Given the description of an element on the screen output the (x, y) to click on. 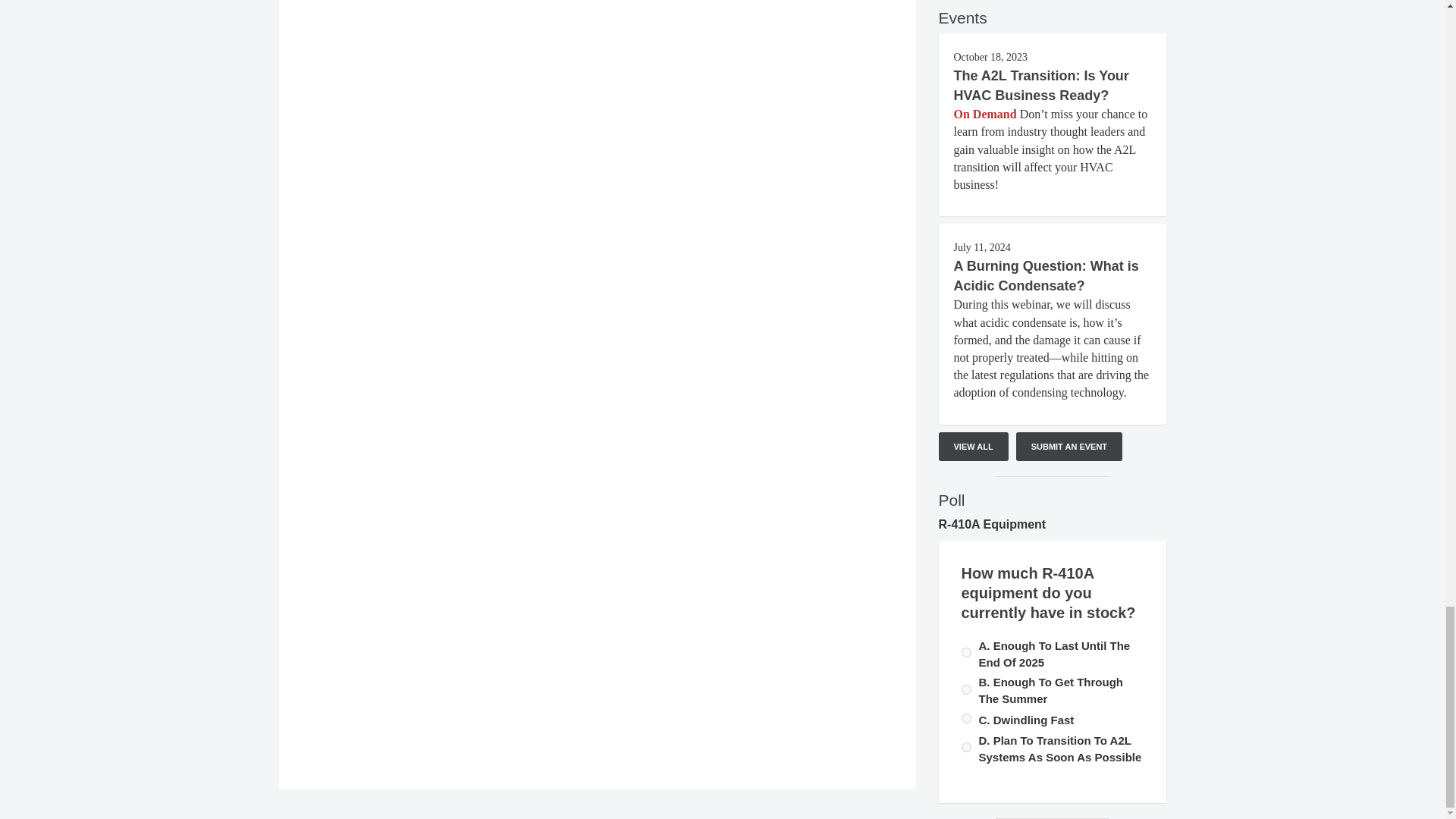
597 (965, 652)
A Burning Question: What is Acidic Condensate? (1045, 275)
The A2L Transition: Is Your HVAC Business Ready? (1041, 85)
598 (965, 718)
596 (965, 689)
599 (965, 747)
